Given the description of an element on the screen output the (x, y) to click on. 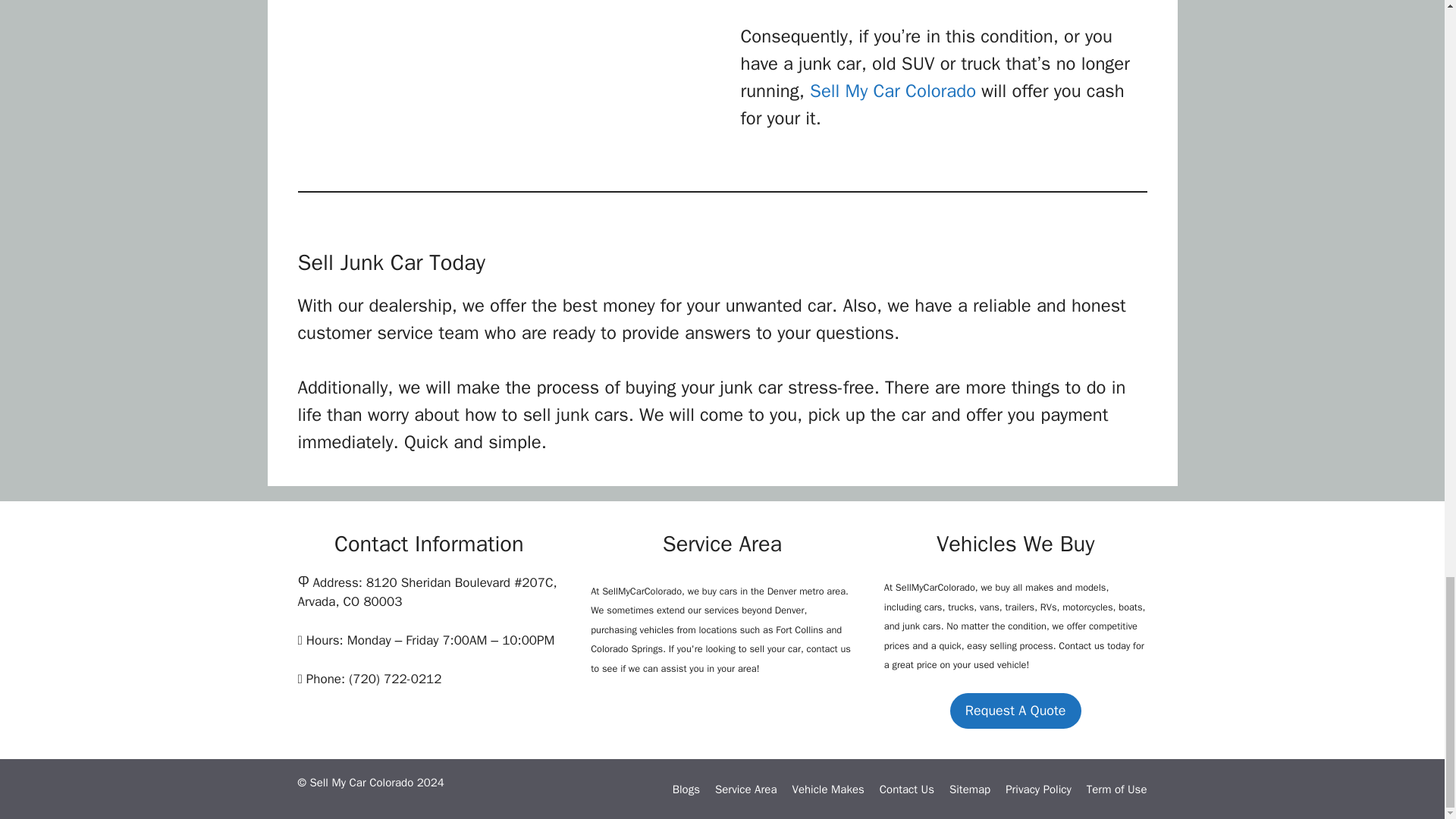
Vehicle Makes (827, 789)
Contact Us (906, 789)
Privacy Policy (1038, 789)
Sitemap (969, 789)
Request A Quote (1015, 710)
Blogs (686, 789)
Term of Use (1116, 789)
Sell My Car Colorado (892, 90)
Service Area (745, 789)
